Given the description of an element on the screen output the (x, y) to click on. 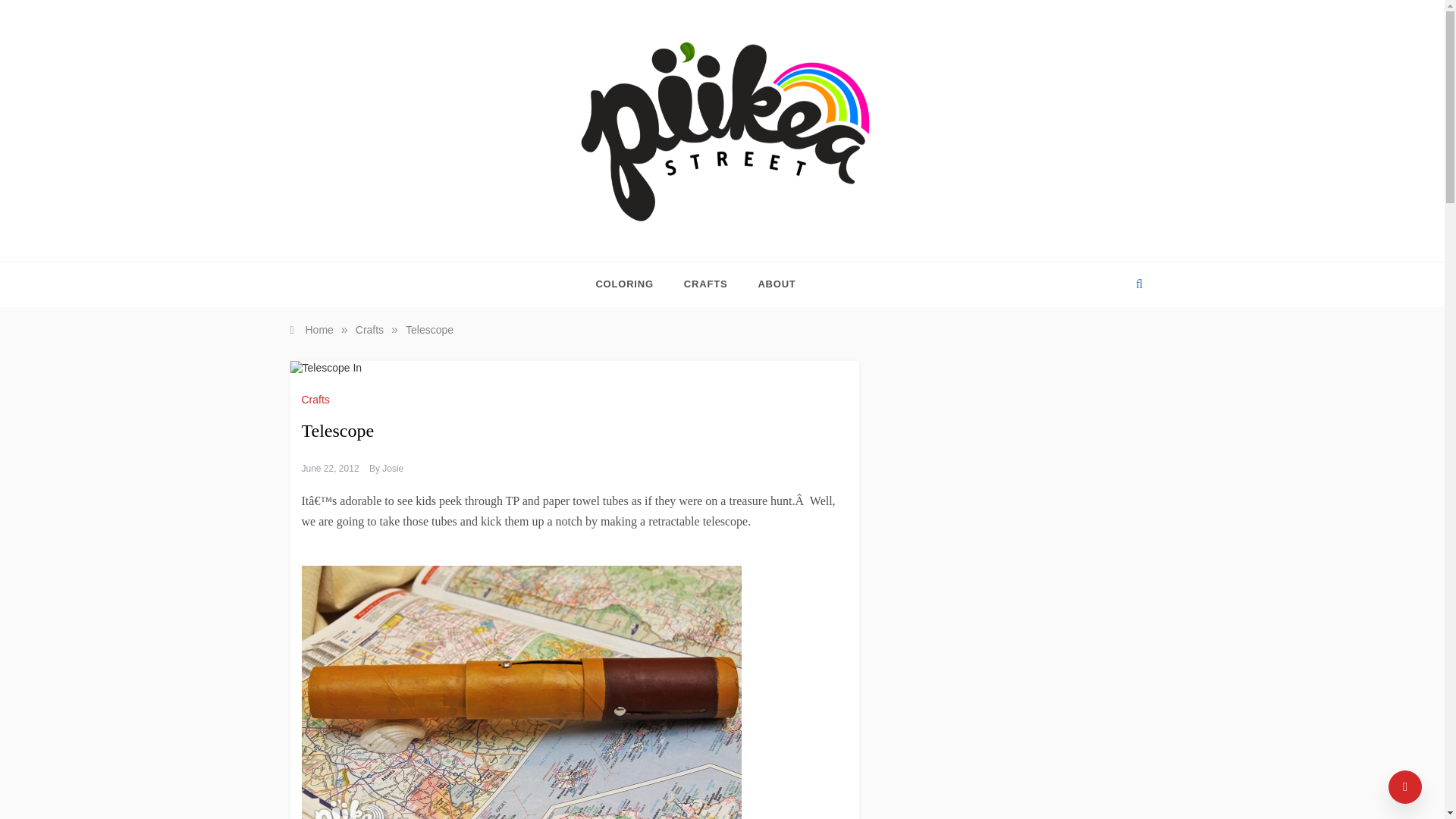
CRAFTS (705, 284)
Free Coloring Pages (631, 284)
ABOUT (768, 284)
Josie (392, 468)
Telescope (429, 329)
Go to Top (1405, 786)
Home (311, 329)
COLORING (631, 284)
Telescope-main (521, 690)
Crafts (369, 329)
June 22, 2012 (330, 468)
PI'IKEA ST. (630, 236)
Crafts (317, 399)
